Given the description of an element on the screen output the (x, y) to click on. 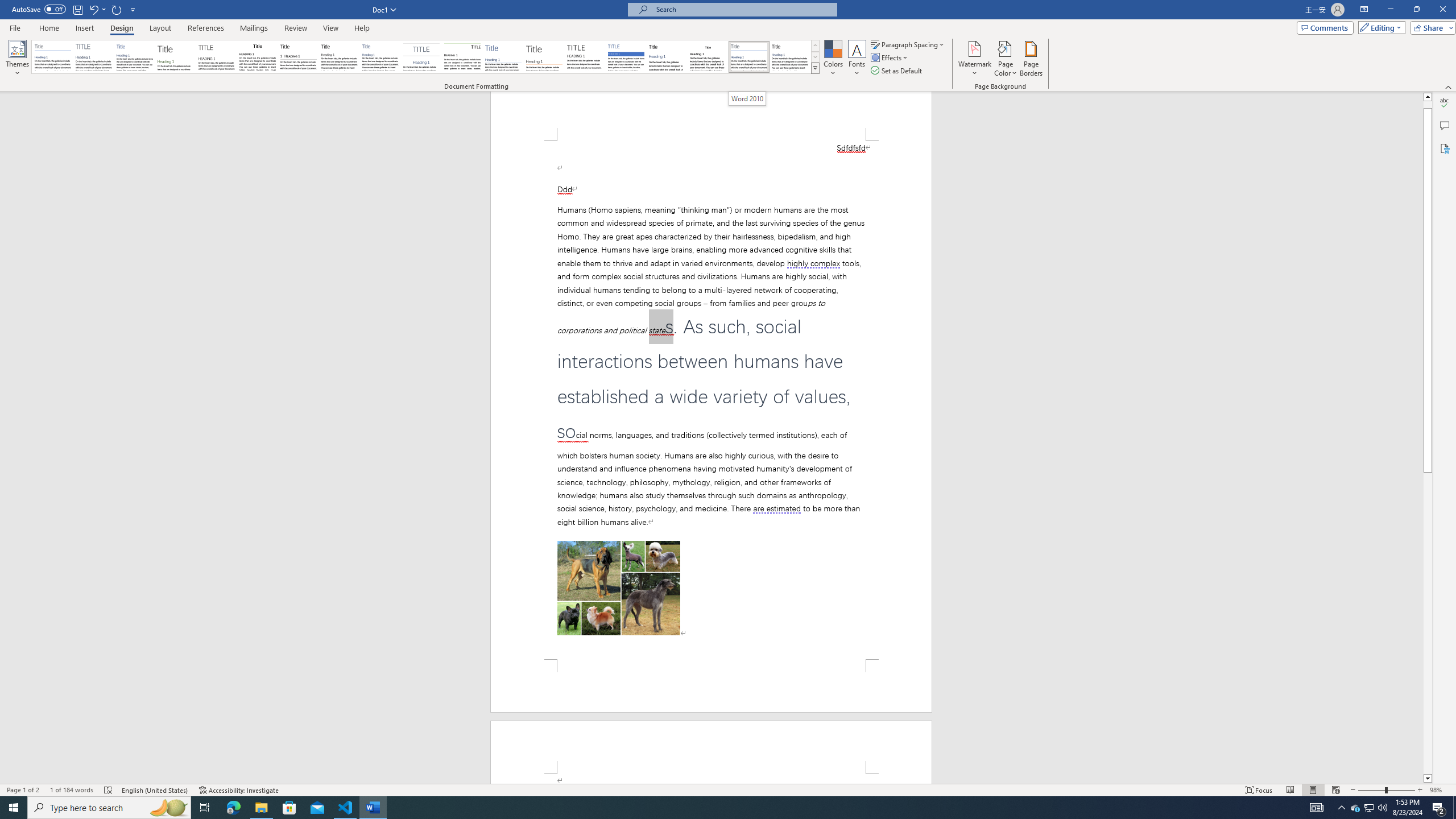
Basic (Elegant) (93, 56)
Watermark (974, 58)
Themes (17, 58)
Black & White (Numbered) (298, 56)
Effects (890, 56)
Document (52, 56)
Centered (421, 56)
